Given the description of an element on the screen output the (x, y) to click on. 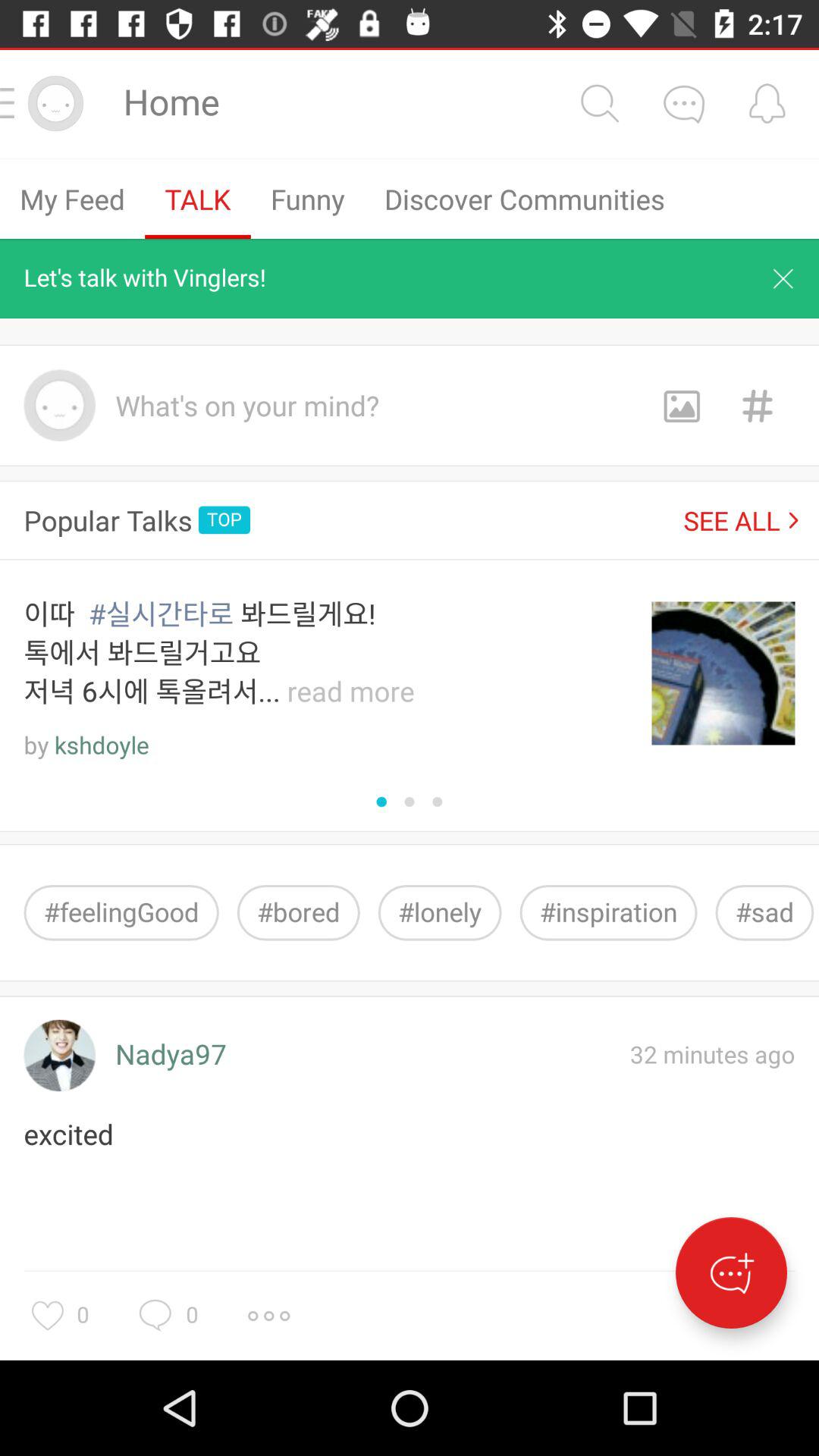
turn on item to the left of the #inspiration item (439, 912)
